Given the description of an element on the screen output the (x, y) to click on. 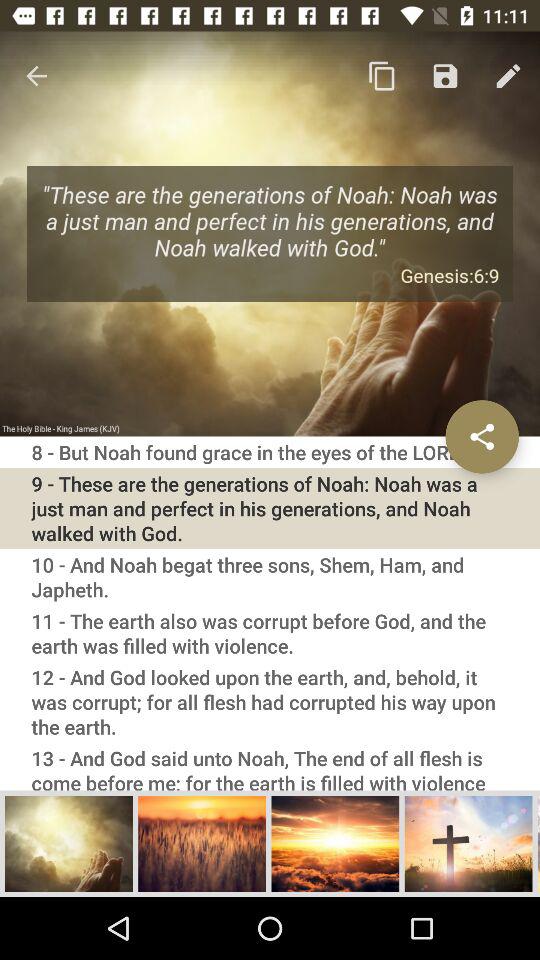
open picture (468, 843)
